Given the description of an element on the screen output the (x, y) to click on. 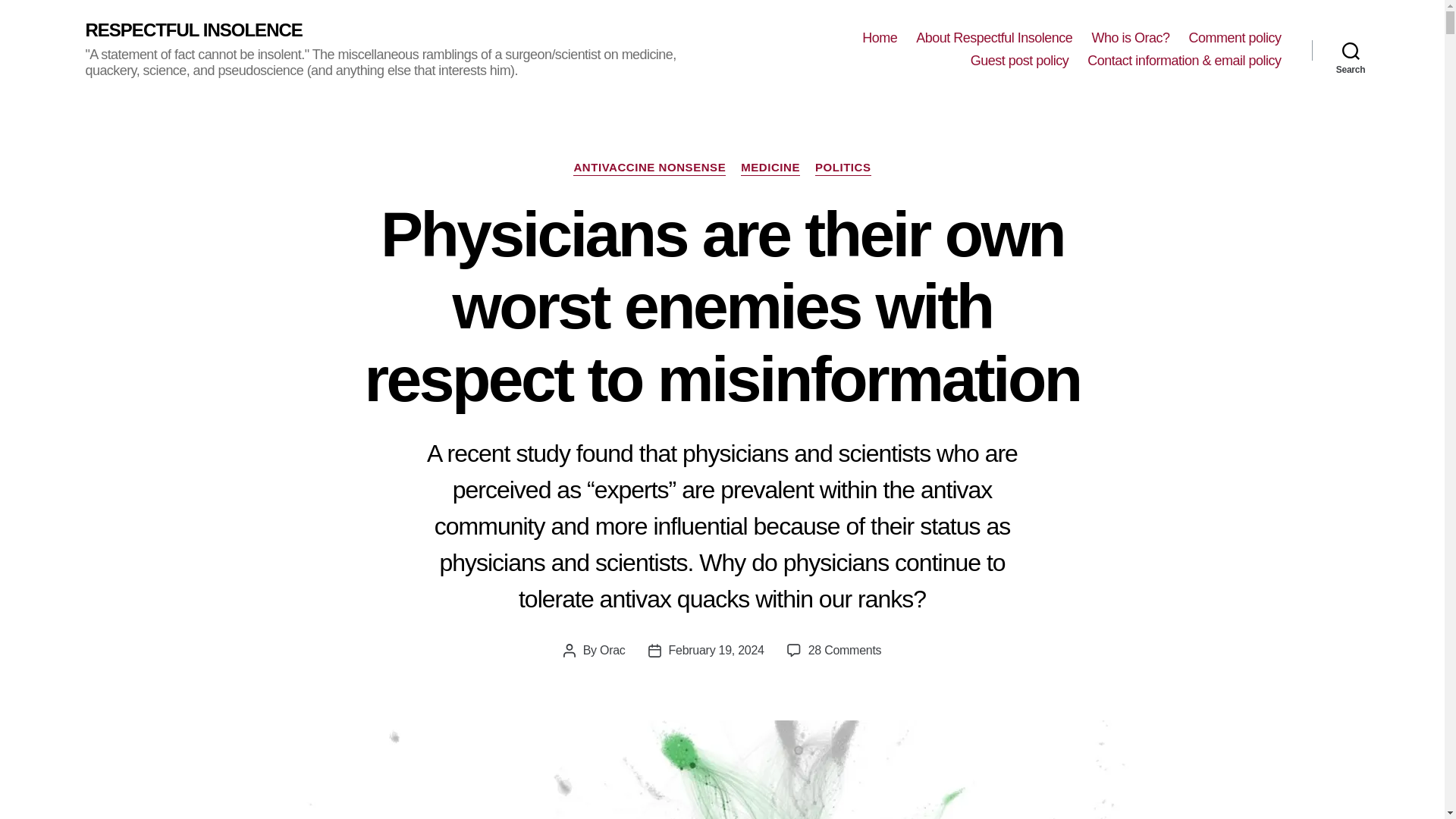
About Respectful Insolence (993, 38)
MEDICINE (770, 168)
RESPECTFUL INSOLENCE (192, 30)
February 19, 2024 (716, 649)
Guest post policy (1019, 61)
Orac (612, 649)
POLITICS (842, 168)
Comment policy (1234, 38)
Search (1350, 49)
